Given the description of an element on the screen output the (x, y) to click on. 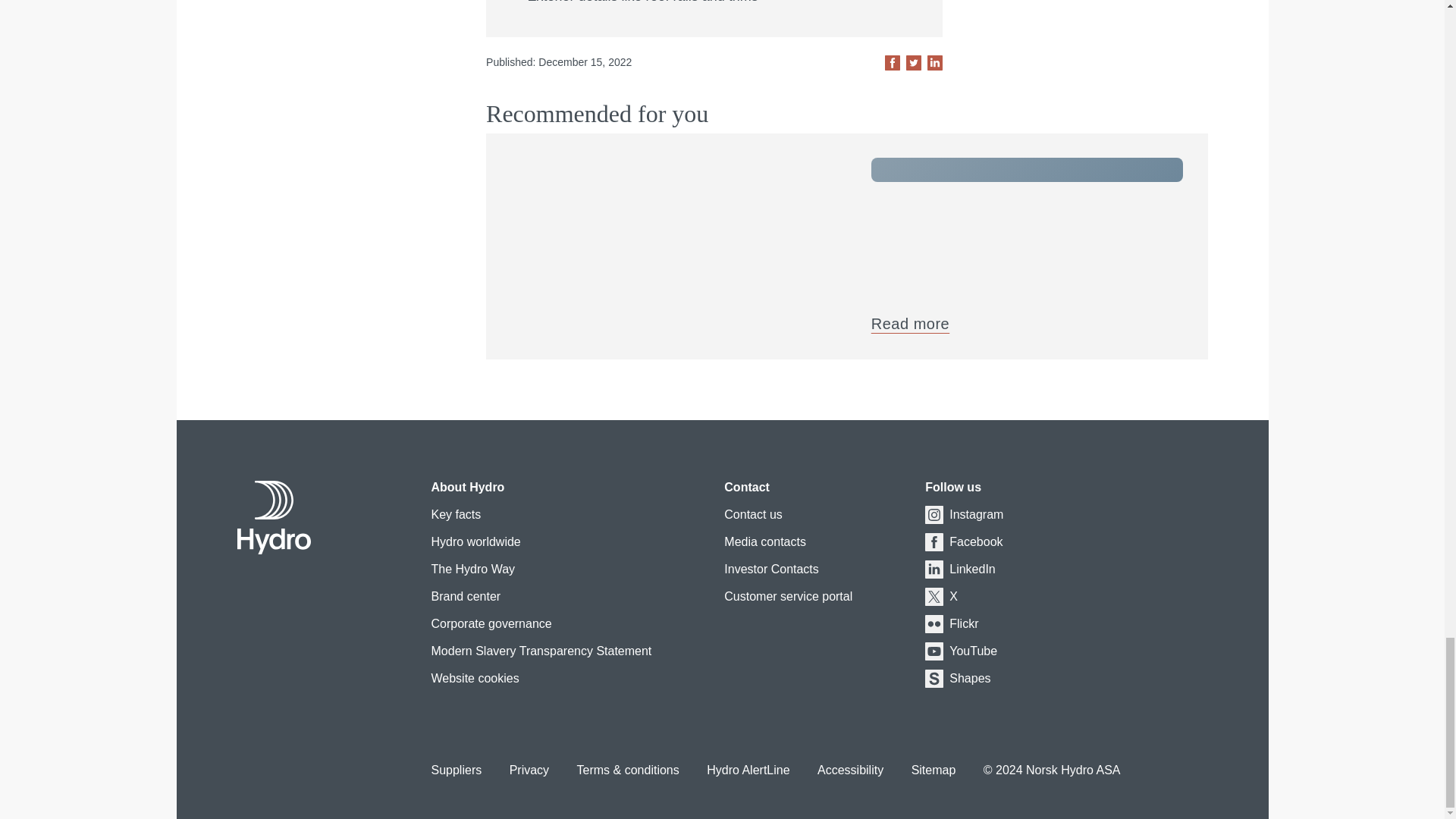
Share on linkedin (934, 62)
Share on twitter (913, 62)
instagram icon (933, 515)
Share on facebook (892, 62)
